Given the description of an element on the screen output the (x, y) to click on. 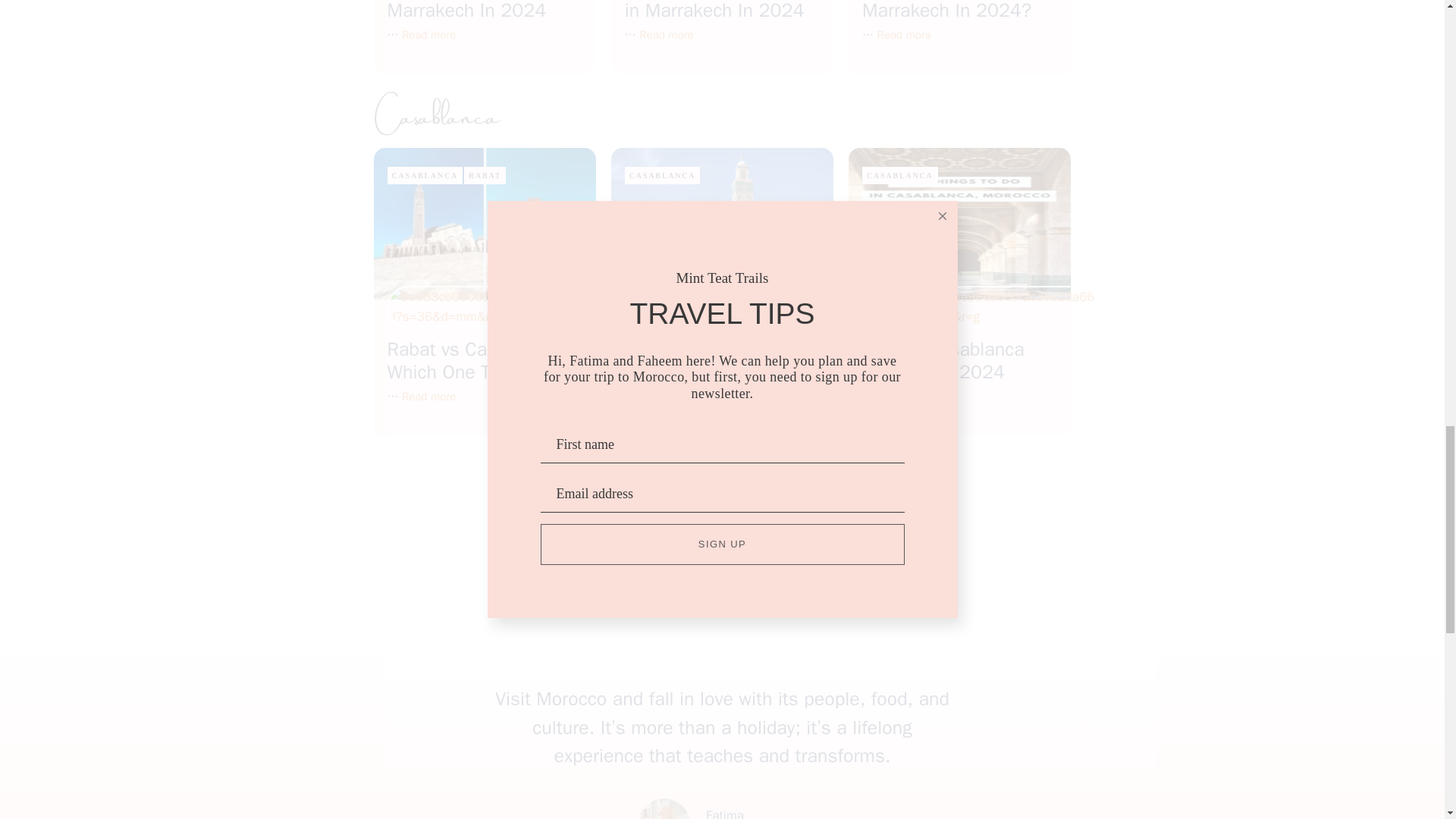
Visiting Casablanca Morocco In 2024 (904, 396)
How to Spend 3 Days in Marrakech In 2024 (714, 11)
Read more (666, 34)
How to Spend 3 Days in Marrakech In 2024 (666, 34)
Where to stay in Marrakech In 2024? (904, 34)
Read more (428, 34)
5 Day Trips From Marrakech In 2024 (466, 11)
5 Day Trips From Marrakech In 2024 (428, 34)
Where to stay in Marrakech In 2024? (945, 11)
Fay (663, 808)
Rabat vs Casablanca: Which One To Visit? (428, 396)
